Given the description of an element on the screen output the (x, y) to click on. 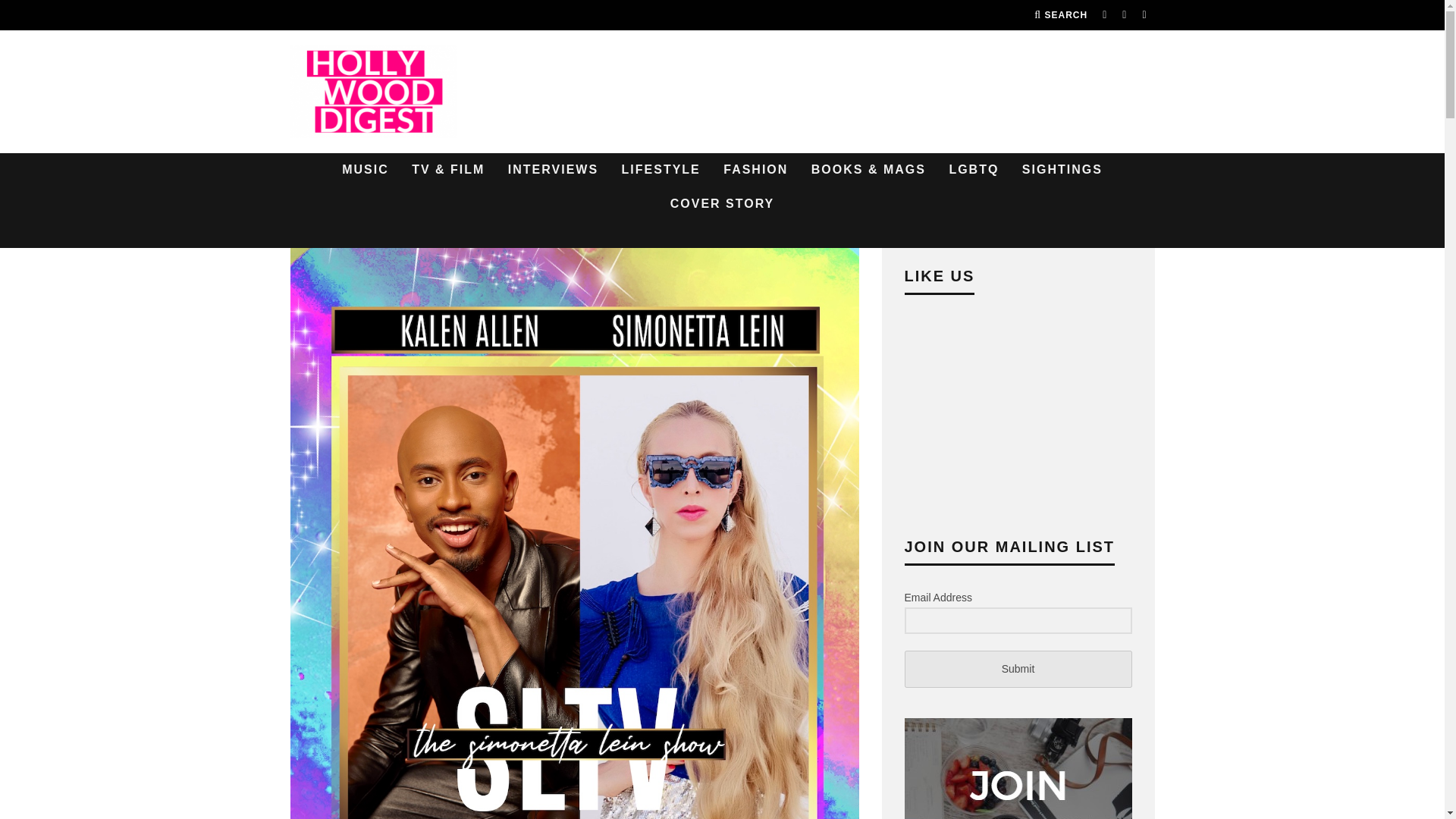
SEARCH (1060, 15)
Search (1060, 15)
MUSIC (365, 170)
INTERVIEWS (553, 170)
